Given the description of an element on the screen output the (x, y) to click on. 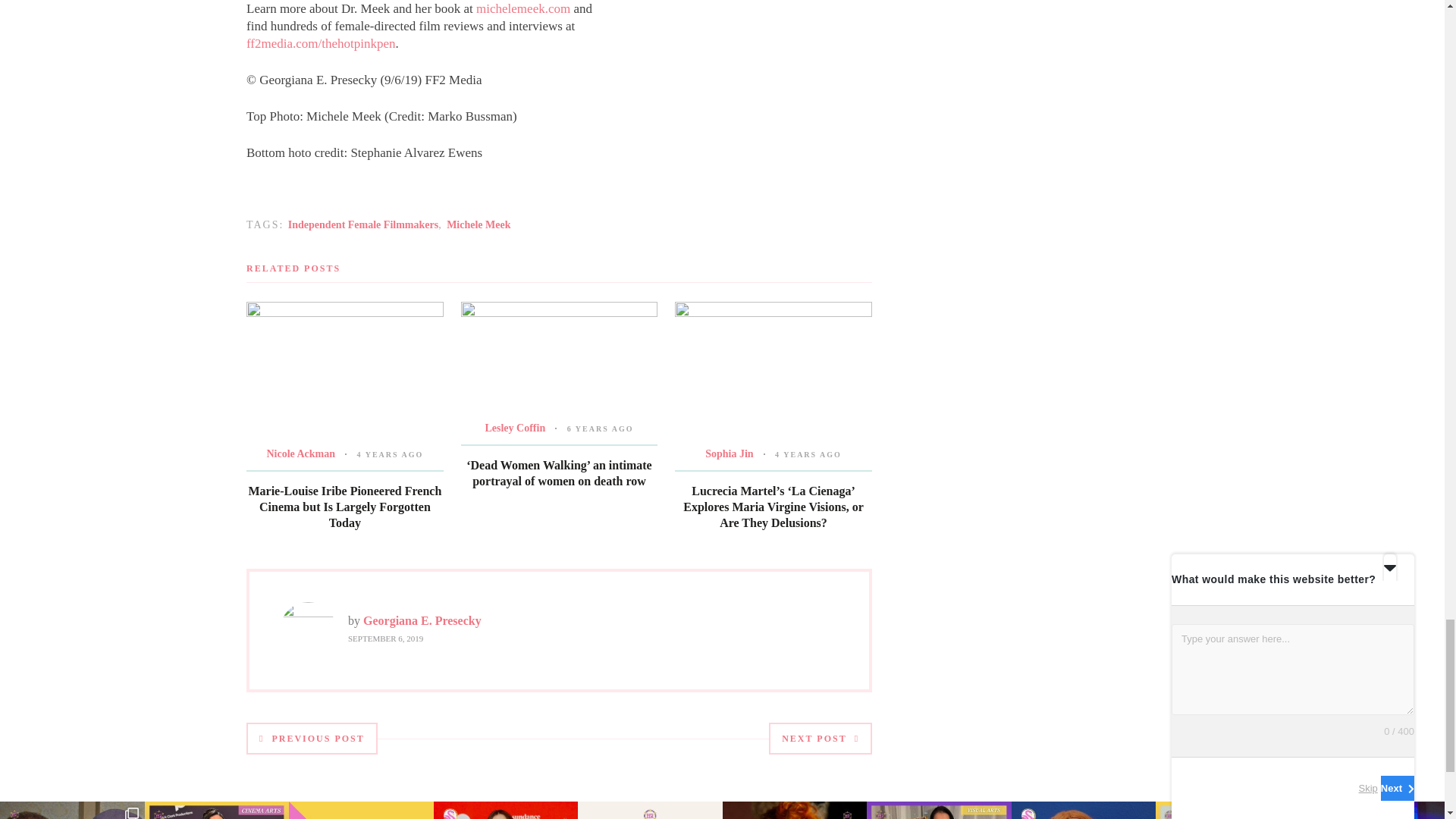
Posts by Lesley Coffin (514, 428)
Michele Meek (478, 224)
Nicole Ackman (300, 453)
michelemeek.com (523, 8)
Posts by Nicole Ackman (300, 453)
Posts by Georgiana E. Presecky (421, 620)
Lesley Coffin (514, 428)
Posts by Sophia Jin (728, 453)
Independent Female Filmmakers (363, 224)
